Given the description of an element on the screen output the (x, y) to click on. 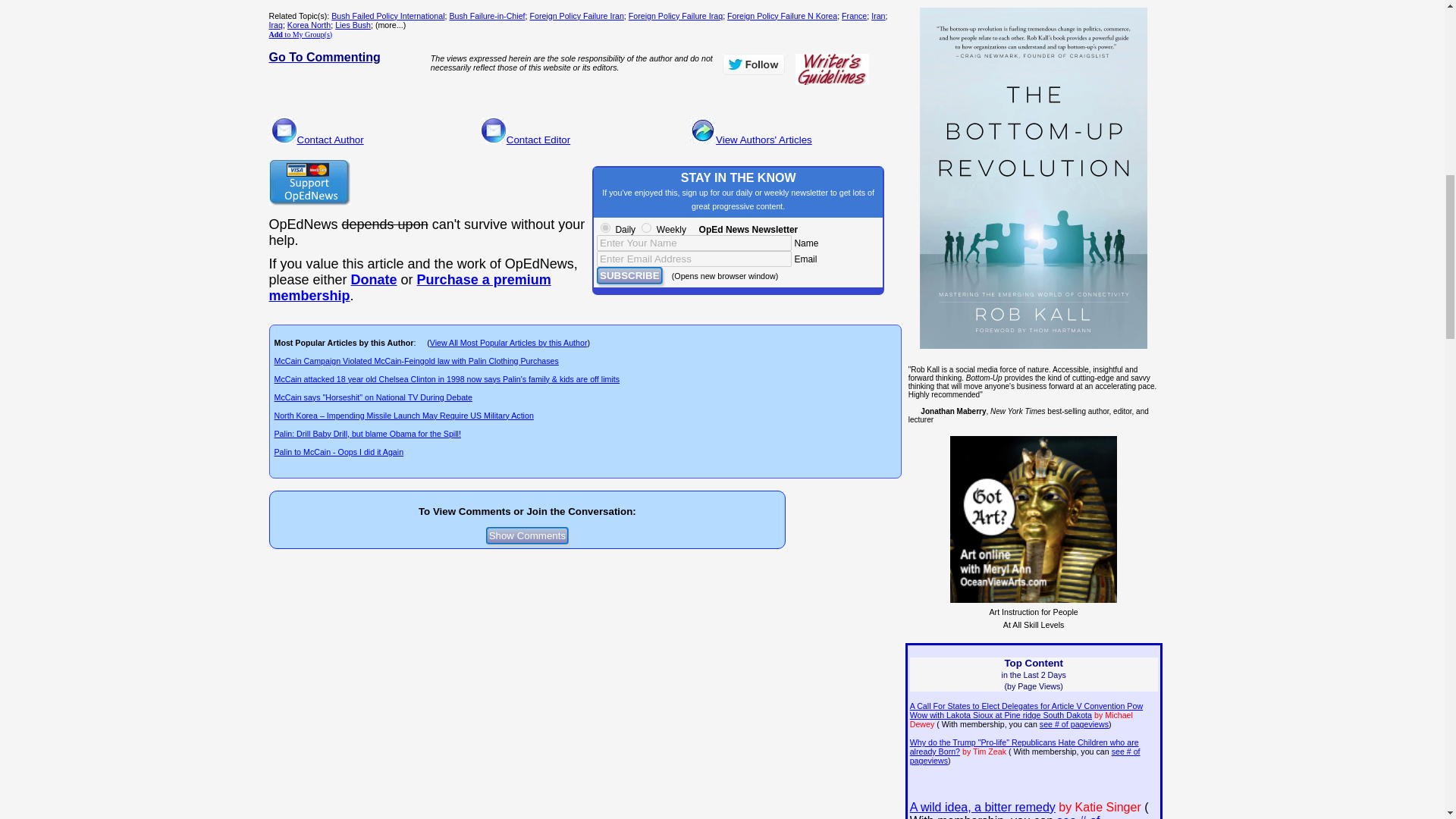
Bush Failed Policy International (387, 15)
Iraq (274, 24)
Foreign Policy Failure Iran (576, 15)
Weekly (646, 227)
Show Comments (527, 535)
Enter Email Address (694, 258)
France (853, 15)
Iran (877, 15)
Writers Guidelines (831, 69)
Lies Bush (352, 24)
